Given the description of an element on the screen output the (x, y) to click on. 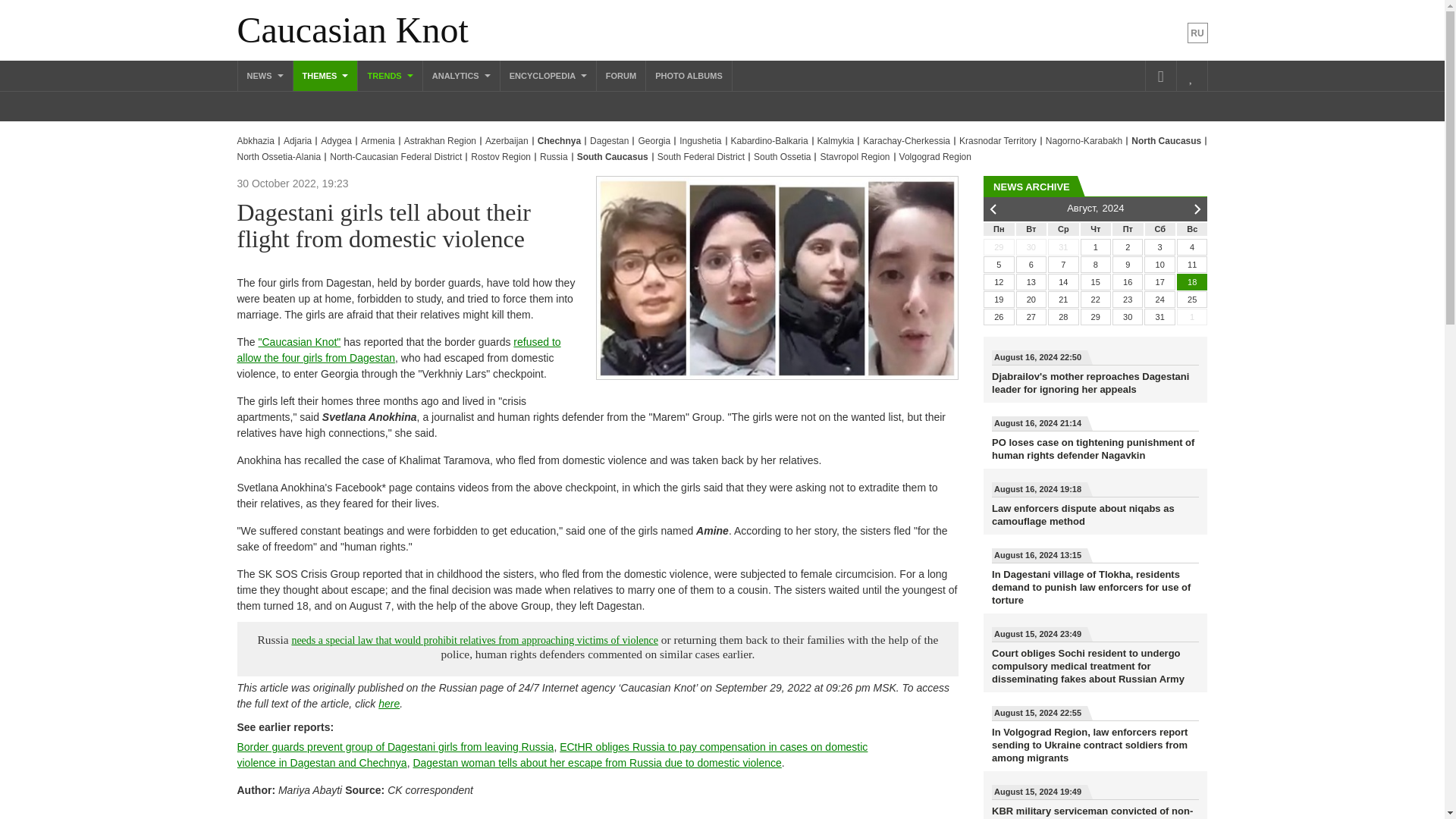
THEMES (326, 75)
RU (1198, 32)
TRENDS (390, 75)
Caucasian Knot (351, 30)
ANALYTICS (461, 75)
Toggle on russian version (1198, 32)
ENCYCLOPEDIA (547, 75)
NEWS (265, 75)
